Given the description of an element on the screen output the (x, y) to click on. 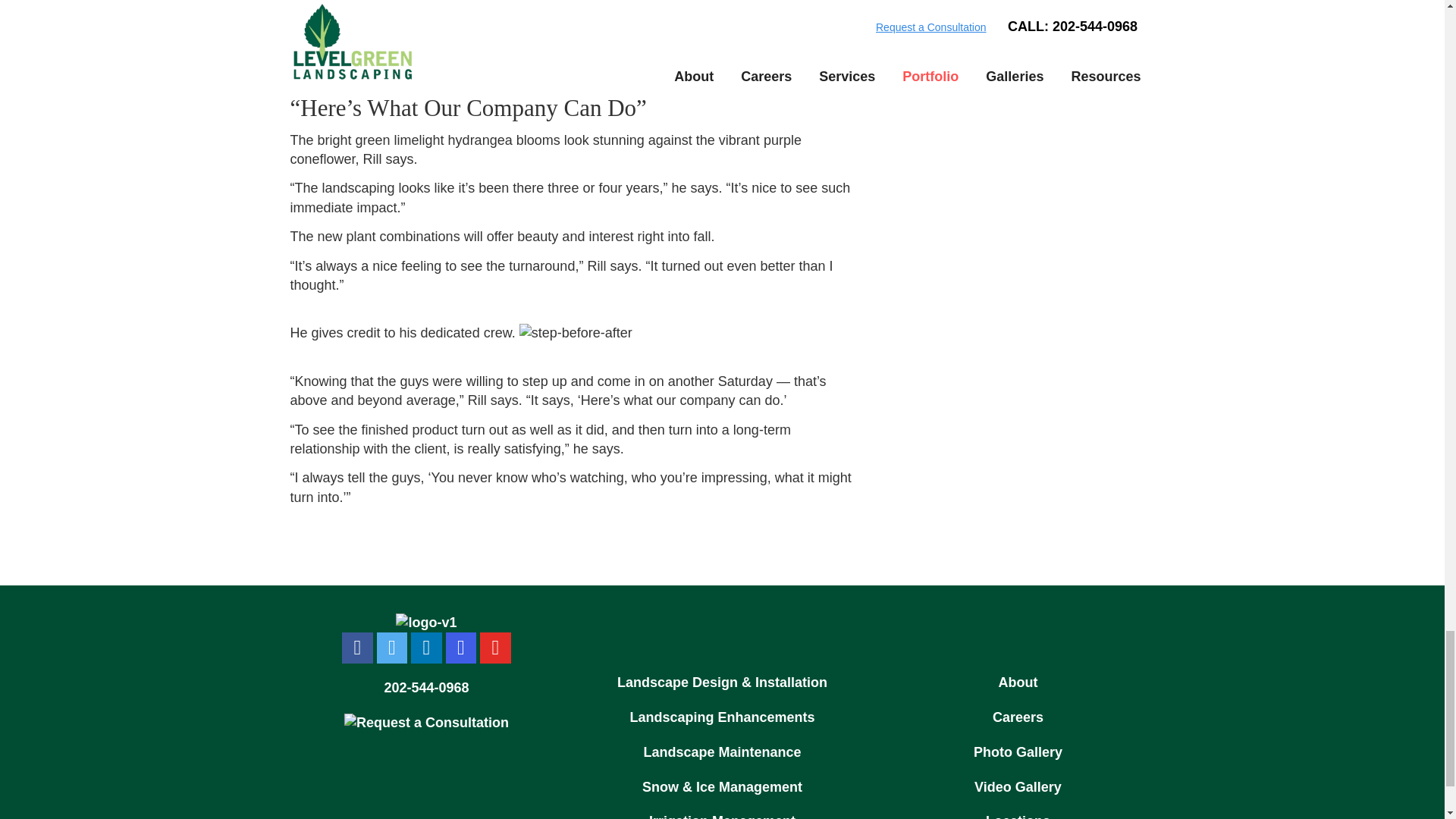
logo-v1 (426, 623)
